Given the description of an element on the screen output the (x, y) to click on. 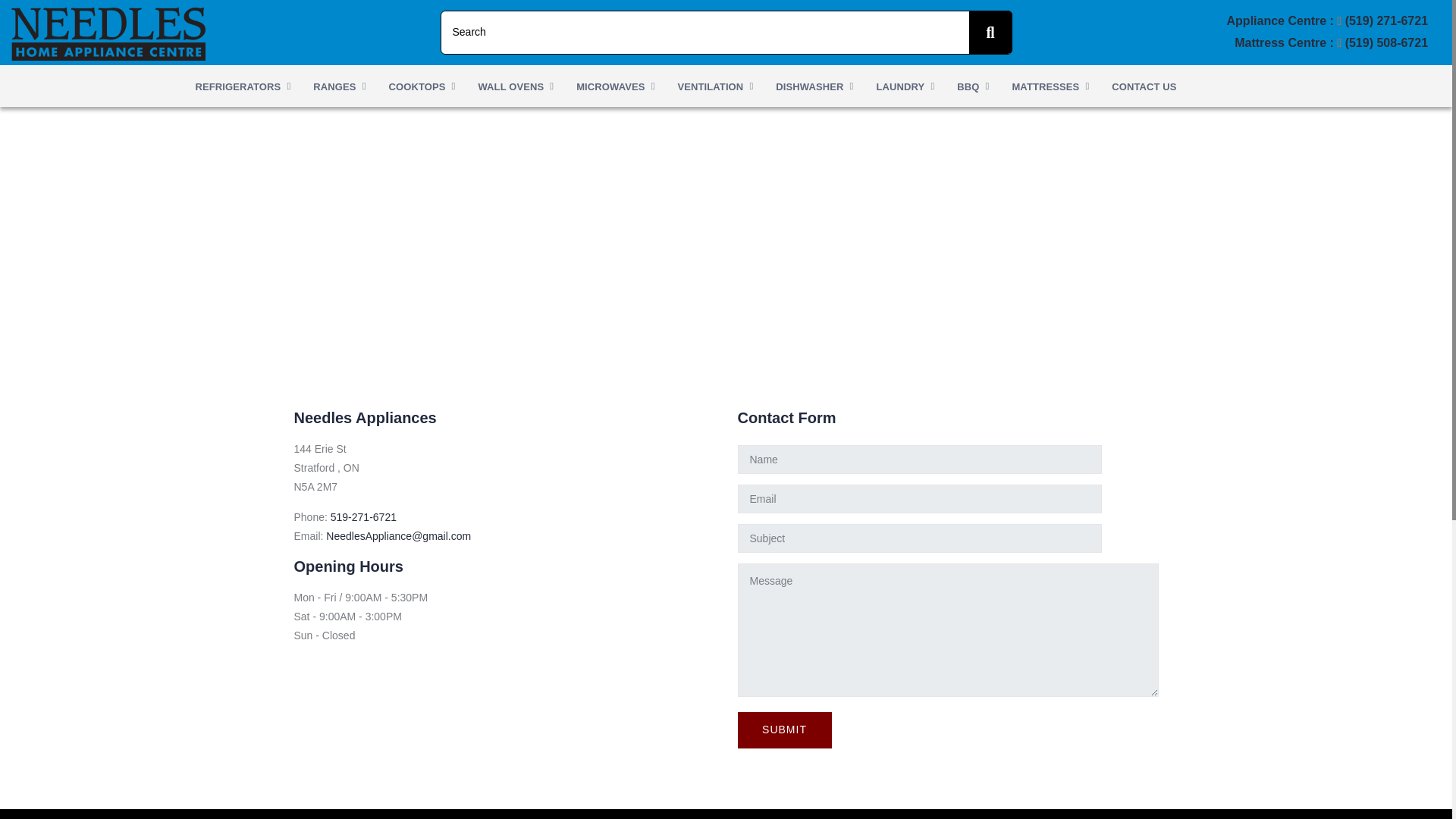
REFRIGERATORS (242, 86)
